Given the description of an element on the screen output the (x, y) to click on. 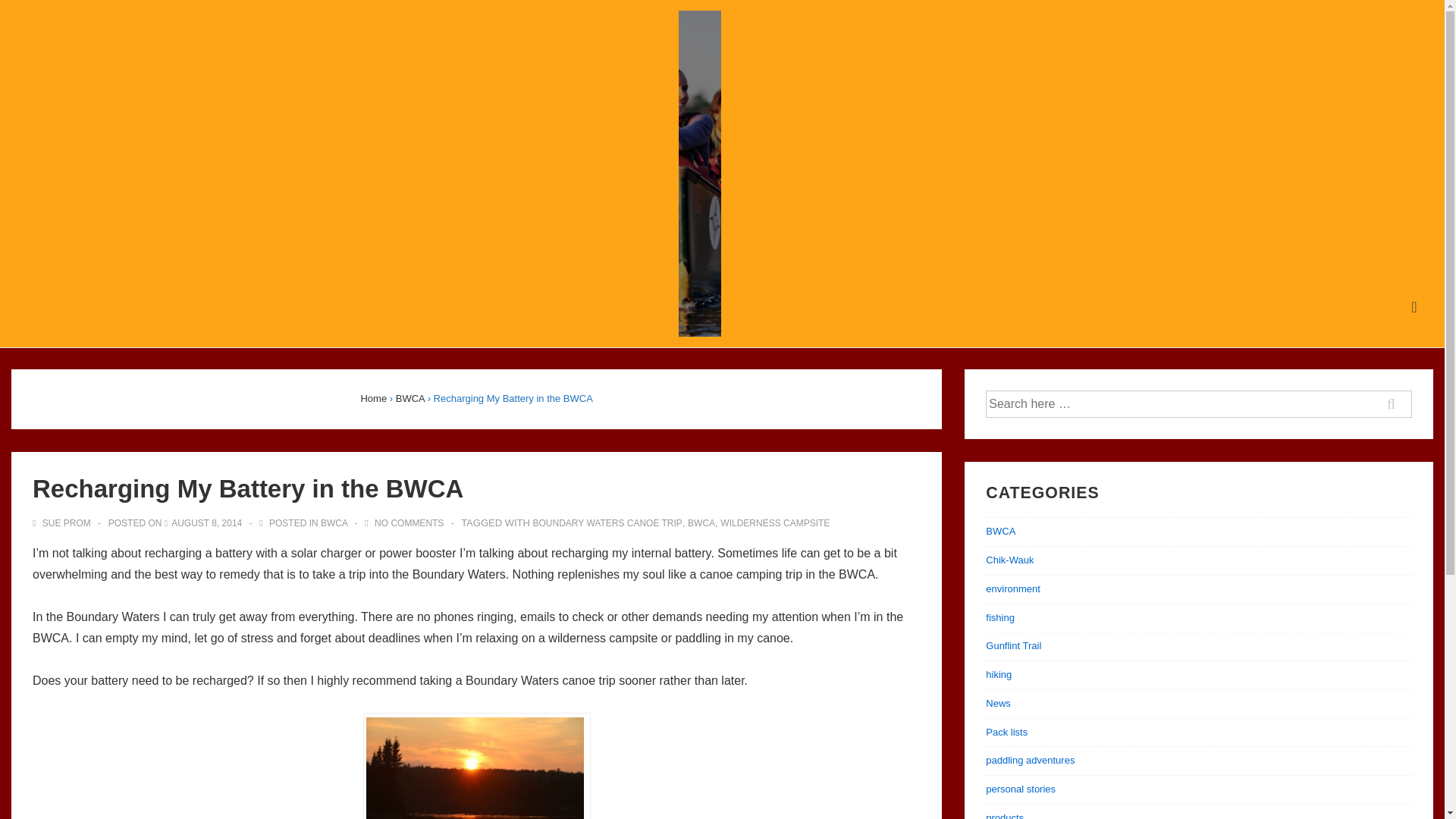
AUGUST 8, 2014 (206, 522)
NO COMMENTS (409, 522)
MENU (1414, 307)
Recharging My Battery in the BWCA (206, 522)
personal stories (1020, 788)
Pack lists (1006, 731)
SUE PROM (62, 522)
BWCA (410, 398)
hiking (998, 674)
BWCA (700, 522)
